Given the description of an element on the screen output the (x, y) to click on. 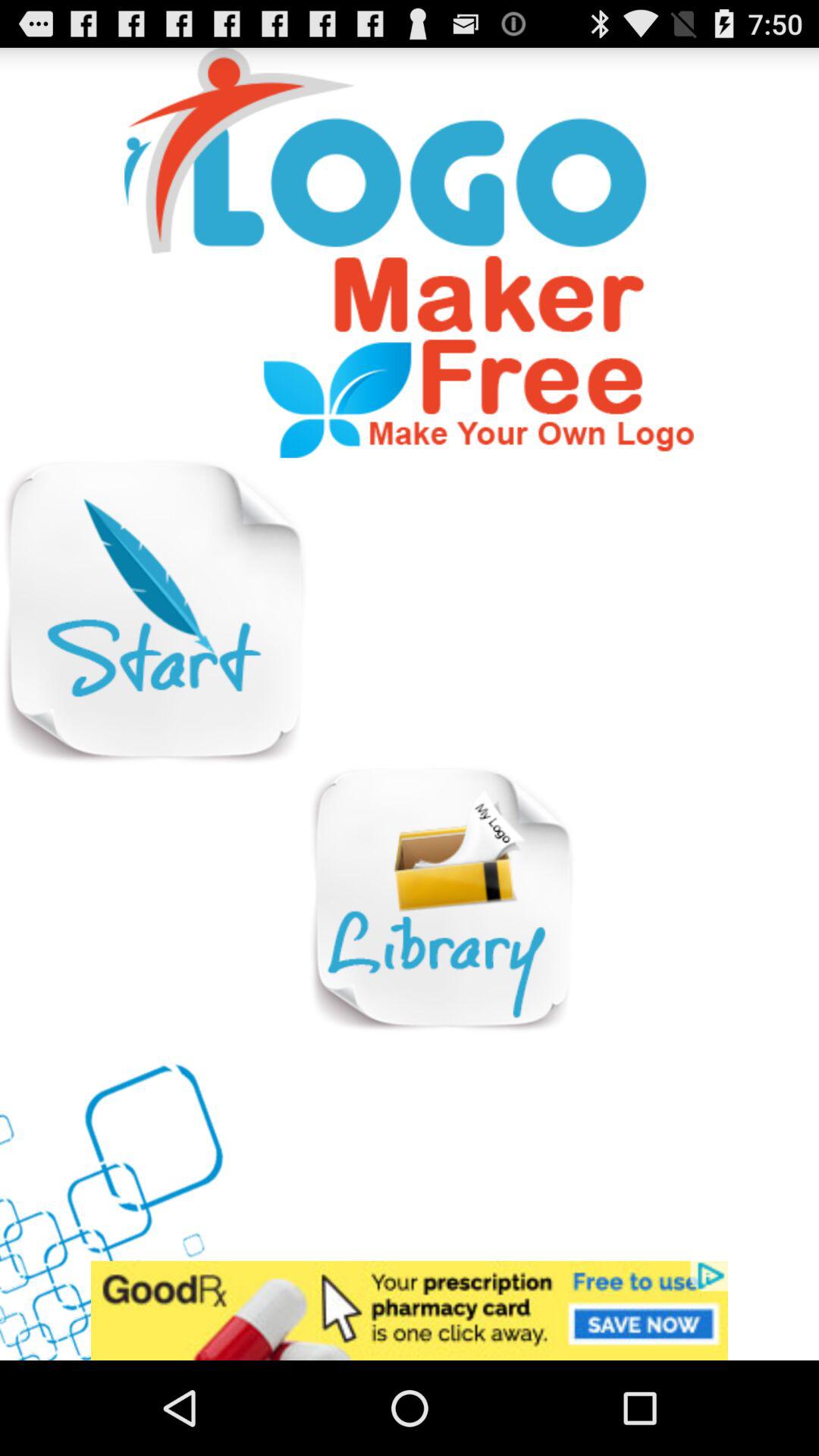
go to library (441, 899)
